Given the description of an element on the screen output the (x, y) to click on. 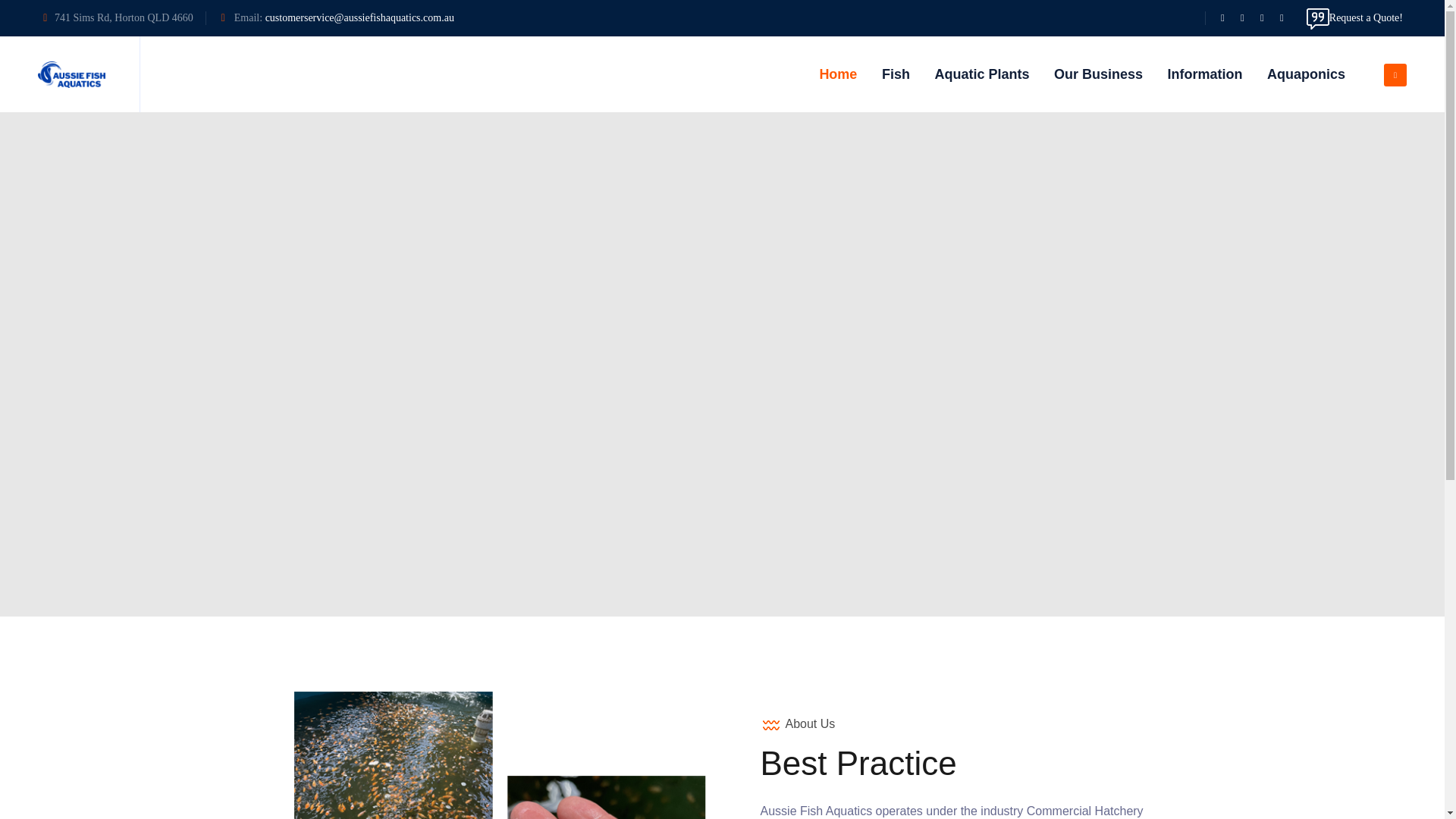
aussiefish-home-aboutus (499, 755)
Information (1204, 74)
Aquatic Plants (982, 74)
Our Business (1098, 74)
Request a Quote! (1354, 17)
Aussie Fish Aquatics (70, 74)
Aquaponics (1305, 74)
